Given the description of an element on the screen output the (x, y) to click on. 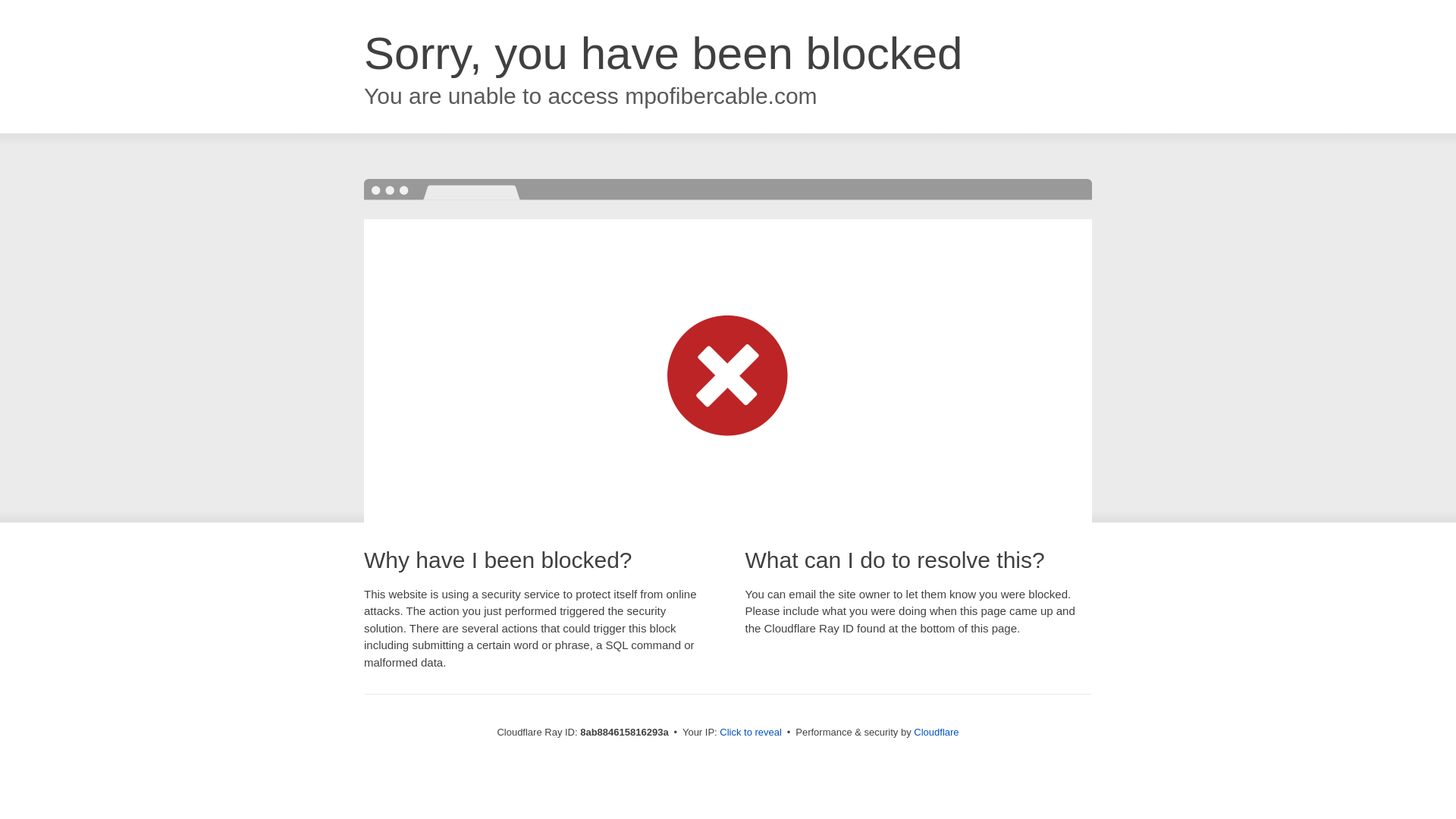
Cloudflare (936, 731)
Click to reveal (750, 732)
